Given the description of an element on the screen output the (x, y) to click on. 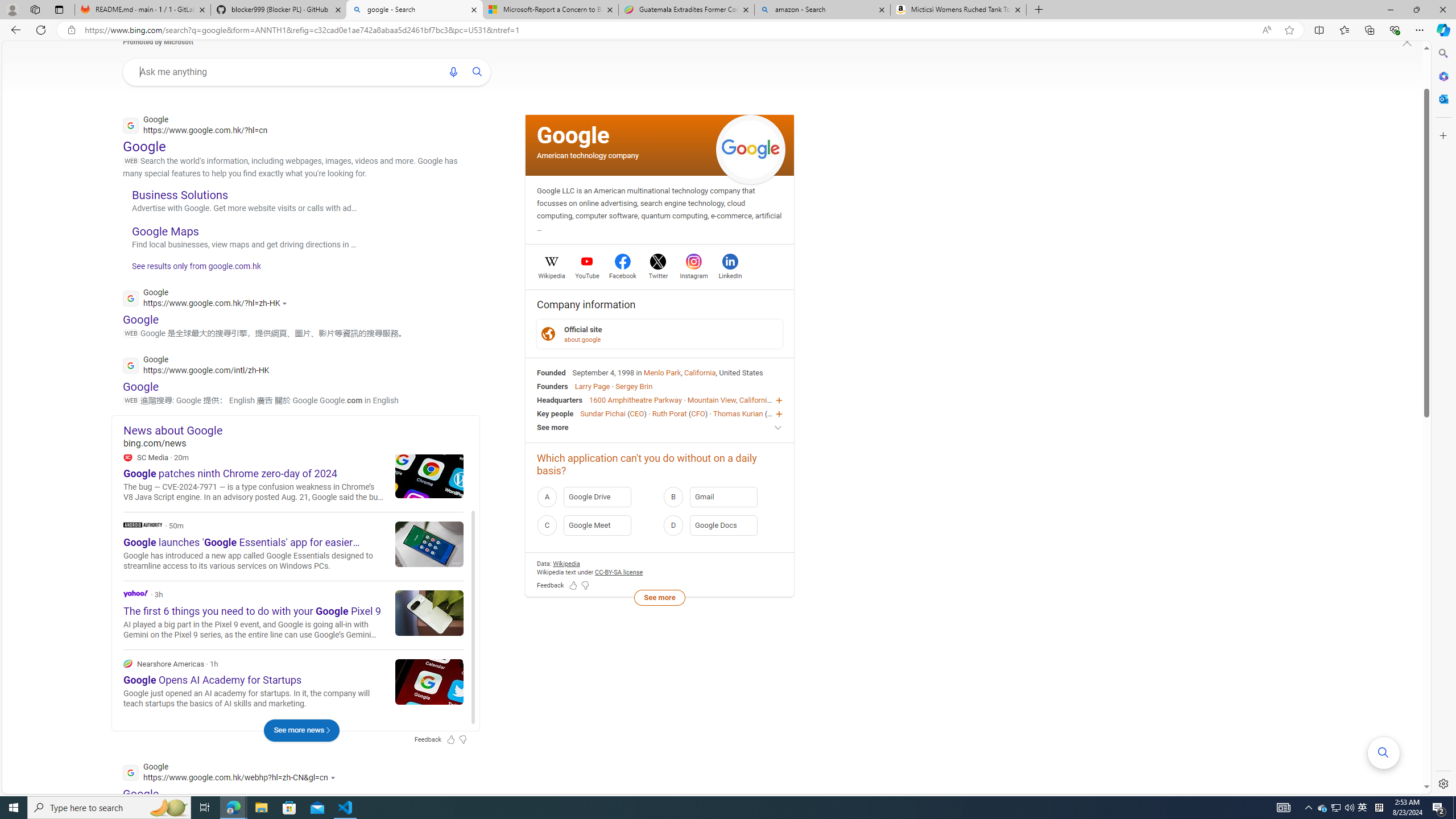
CEO (774, 412)
News about Google (301, 429)
Search using voice (452, 71)
See more images of Google (751, 150)
Instagram (693, 274)
CC-BY-SA license (619, 571)
The first 6 things you need to do with your Google Pixel 9 (428, 612)
AutomationID: uaseabtn (478, 71)
Customize (1442, 135)
Google (573, 135)
Sergey Brin (633, 385)
Mountain View, California (729, 399)
Larry Page (592, 385)
